Given the description of an element on the screen output the (x, y) to click on. 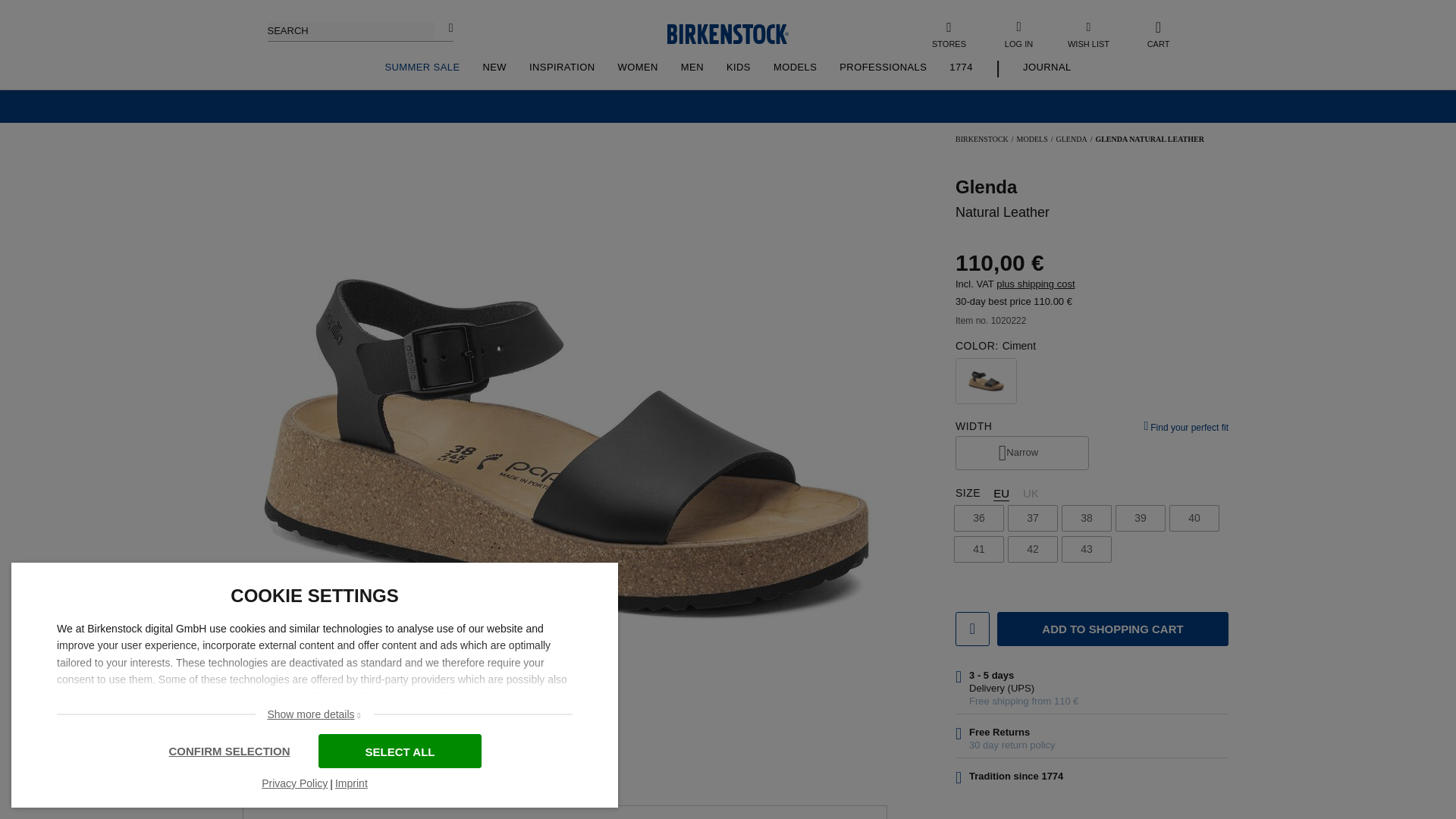
Glenda Natural Leather (284, 266)
Glenda Natural Leather (284, 440)
STORES (948, 33)
SUMMER SALE (422, 67)
Display wishlist (1088, 33)
Show shopping cart (1158, 33)
CART (1158, 33)
My information (1018, 33)
LOG IN (1018, 33)
Log in (1039, 283)
